Given the description of an element on the screen output the (x, y) to click on. 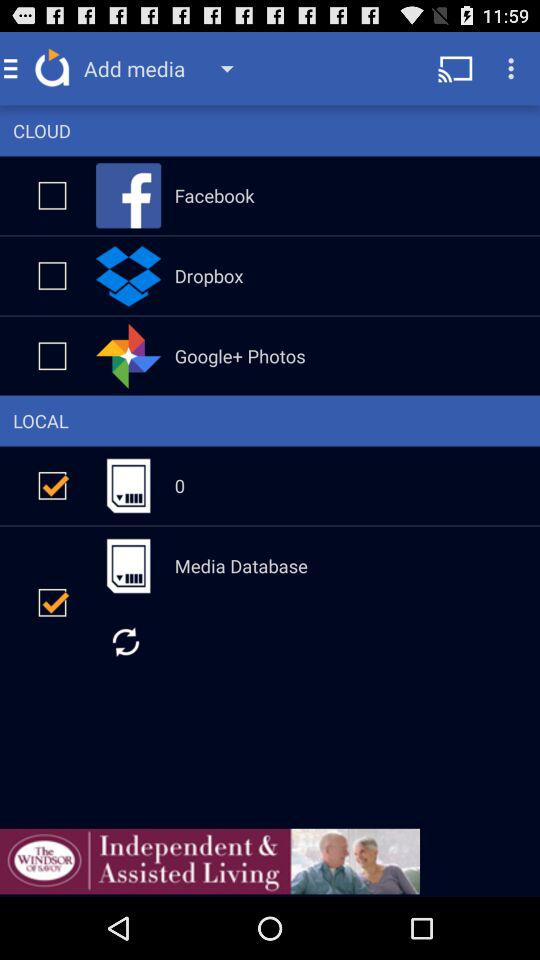
selecting box (52, 275)
